Given the description of an element on the screen output the (x, y) to click on. 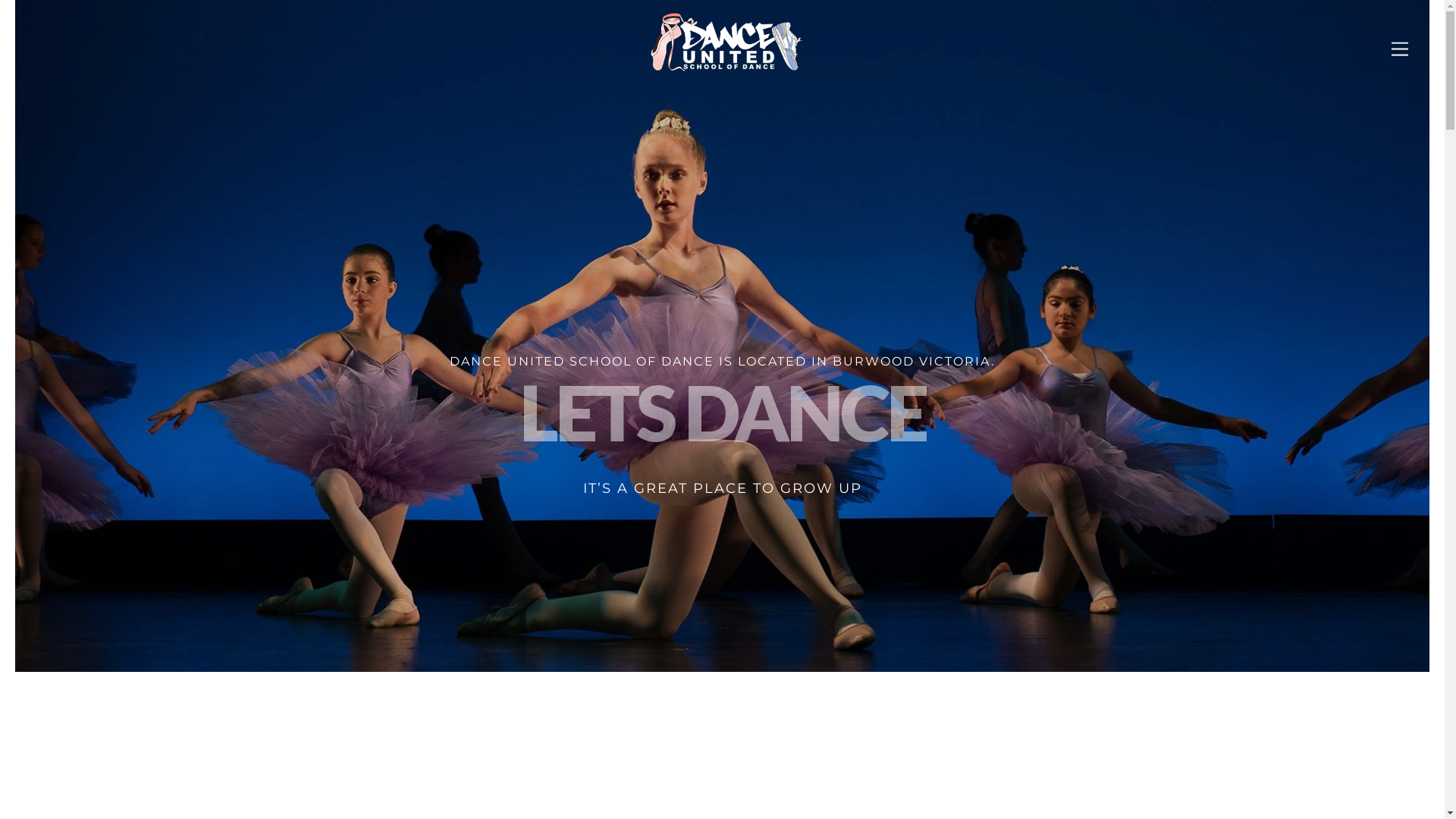
Dance United Element type: hover (726, 65)
DU_LOGO-white_XSM Element type: hover (726, 41)
Menu Element type: text (1399, 47)
